Given the description of an element on the screen output the (x, y) to click on. 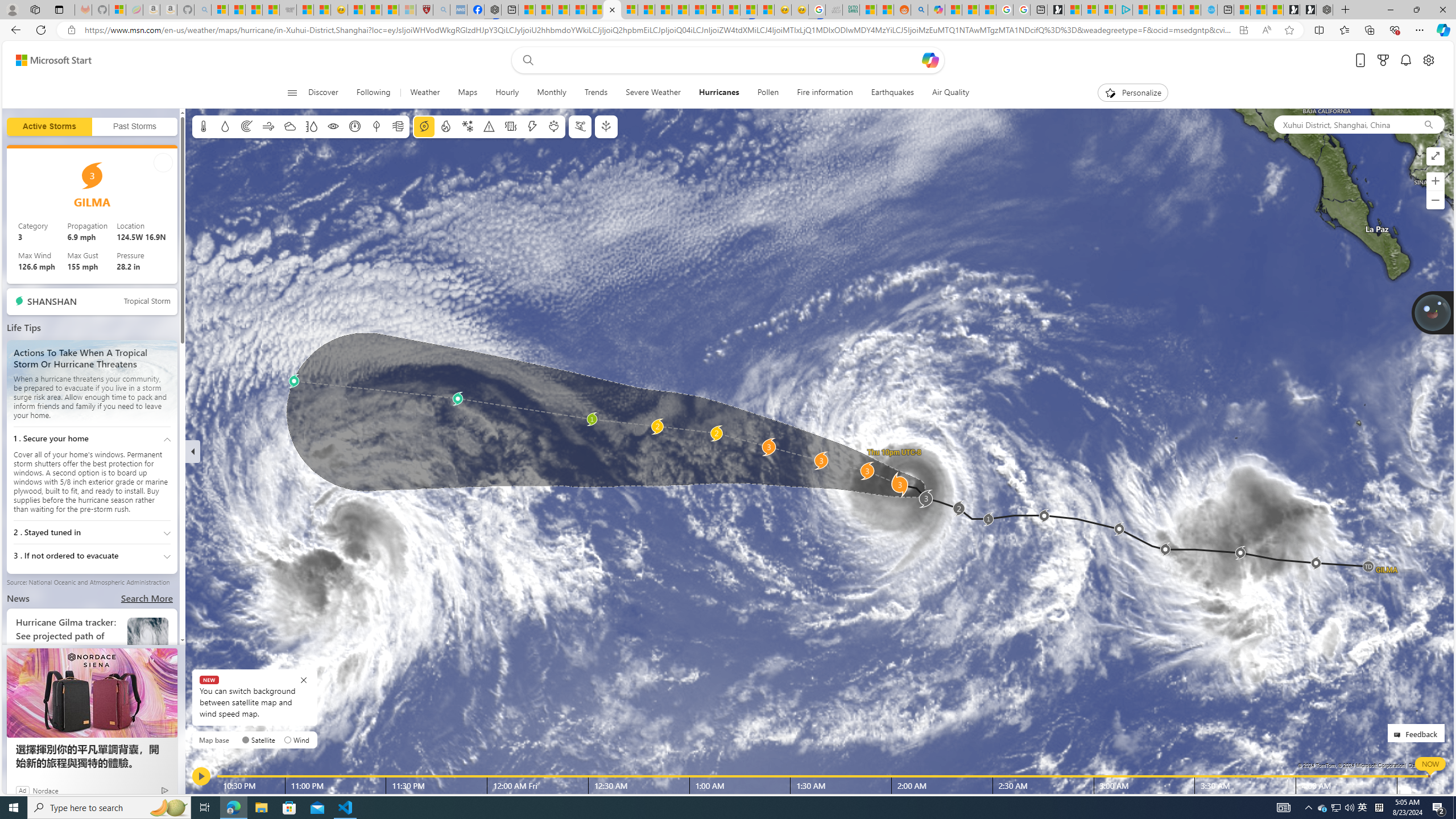
Actions to Take When a Tropical Storm or Hurricane Threatens (92, 381)
Monthly (551, 92)
Microsoft Copilot in Bing (936, 9)
Earthquake (510, 126)
Trends (595, 92)
12 Popular Science Lies that Must be Corrected - Sleeping (407, 9)
Pollen (553, 126)
Hurricanes (718, 92)
SHANSHAN Tropical Storm (92, 301)
Trends (596, 92)
